Given the description of an element on the screen output the (x, y) to click on. 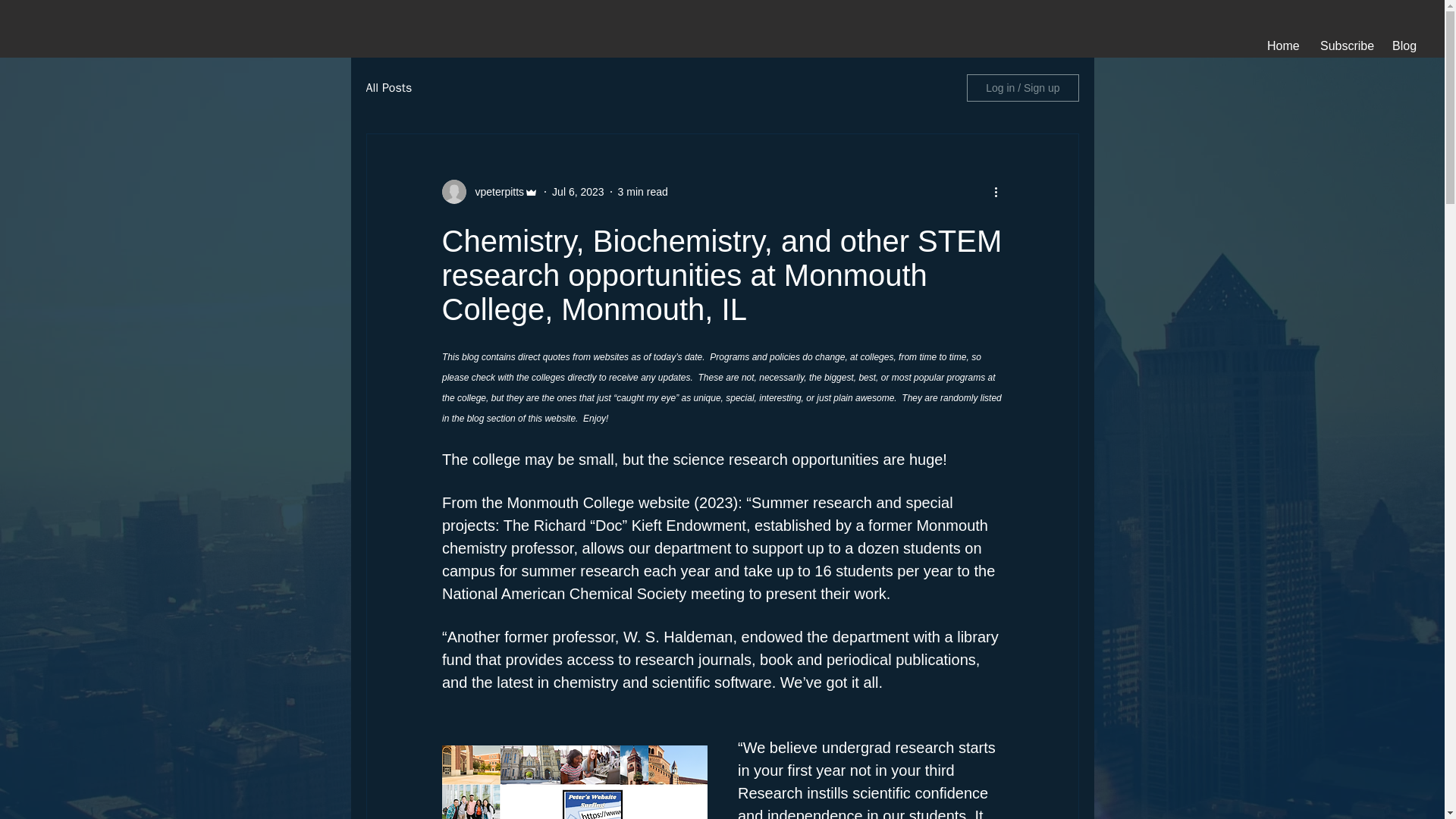
Blog (1403, 46)
Subscribe (1344, 46)
3 min read (642, 191)
Jul 6, 2023 (577, 191)
All Posts (388, 88)
Home (1281, 46)
vpeterpitts (494, 191)
